Given the description of an element on the screen output the (x, y) to click on. 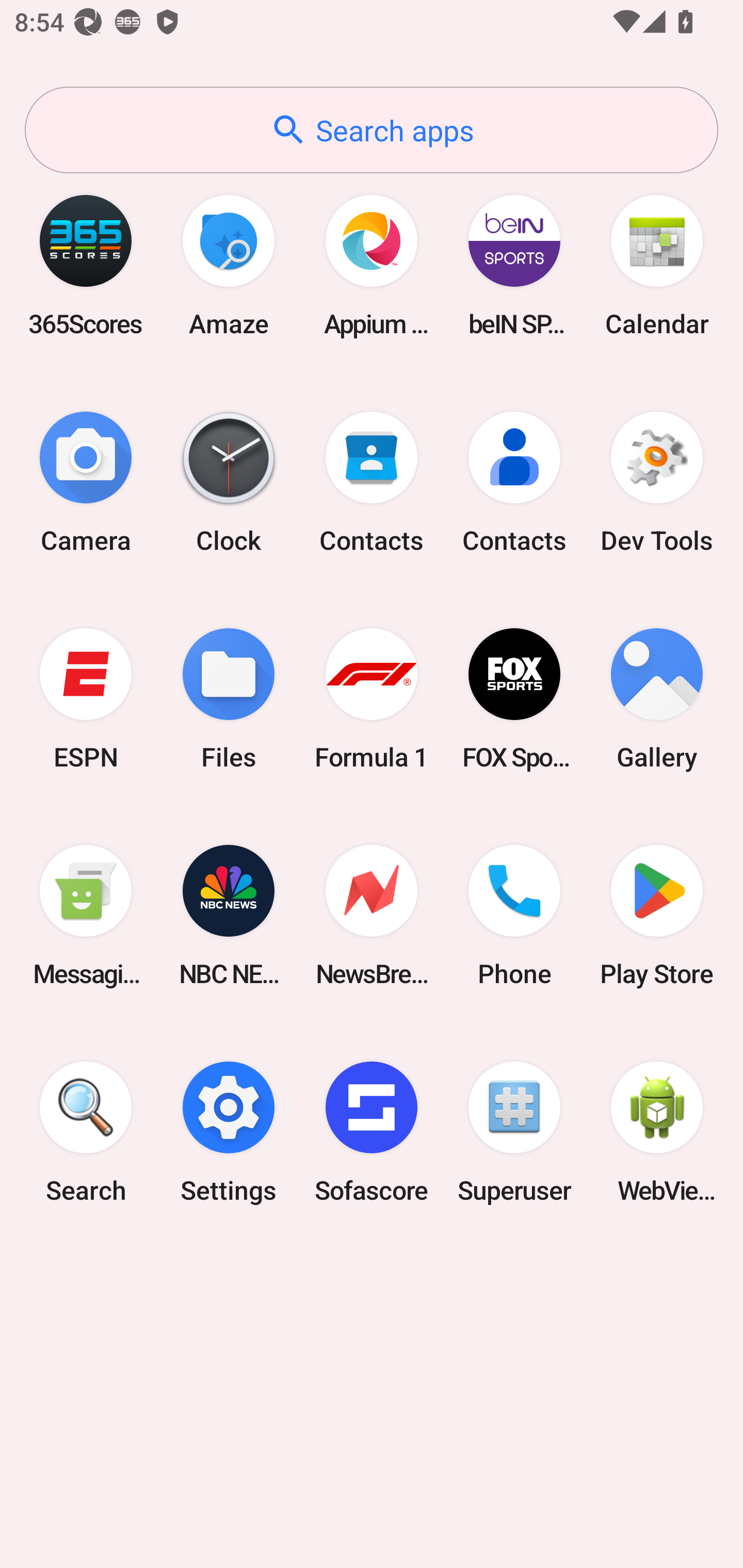
  Search apps (371, 130)
365Scores (85, 264)
Amaze (228, 264)
Appium Settings (371, 264)
beIN SPORTS (514, 264)
Calendar (656, 264)
Camera (85, 482)
Clock (228, 482)
Contacts (371, 482)
Contacts (514, 482)
Dev Tools (656, 482)
ESPN (85, 699)
Files (228, 699)
Formula 1 (371, 699)
FOX Sports (514, 699)
Gallery (656, 699)
Messaging (85, 915)
NBC NEWS (228, 915)
NewsBreak (371, 915)
Phone (514, 915)
Play Store (656, 915)
Search (85, 1131)
Settings (228, 1131)
Sofascore (371, 1131)
Superuser (514, 1131)
WebView Browser Tester (656, 1131)
